Given the description of an element on the screen output the (x, y) to click on. 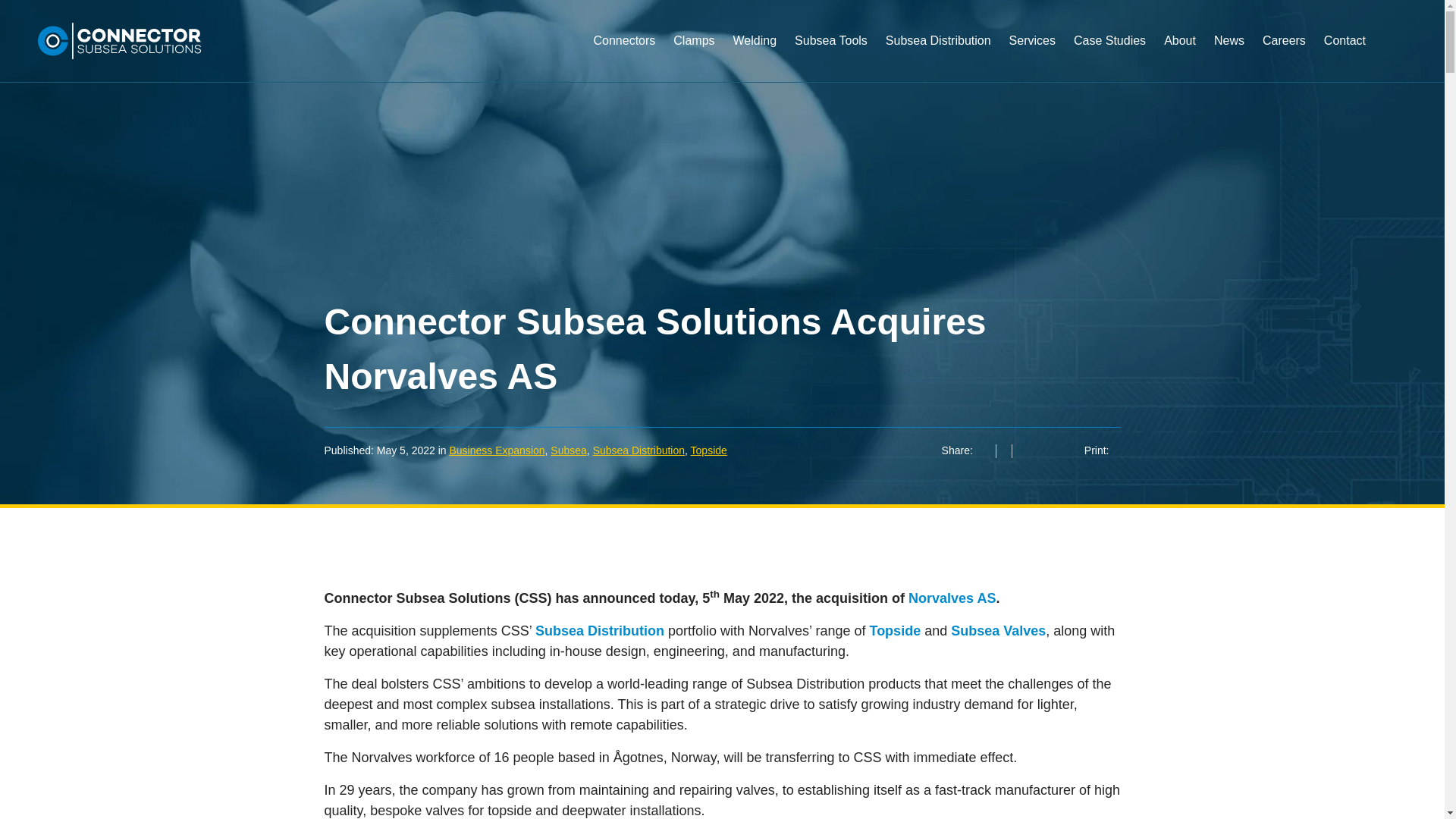
Connector Subsea Solutions (118, 40)
Clamps (693, 57)
Connectors (623, 57)
Case Studies (1109, 57)
Subsea Tools (831, 57)
Welding (754, 57)
Subsea Distribution (938, 57)
Services (1032, 57)
About (1179, 57)
